Given the description of an element on the screen output the (x, y) to click on. 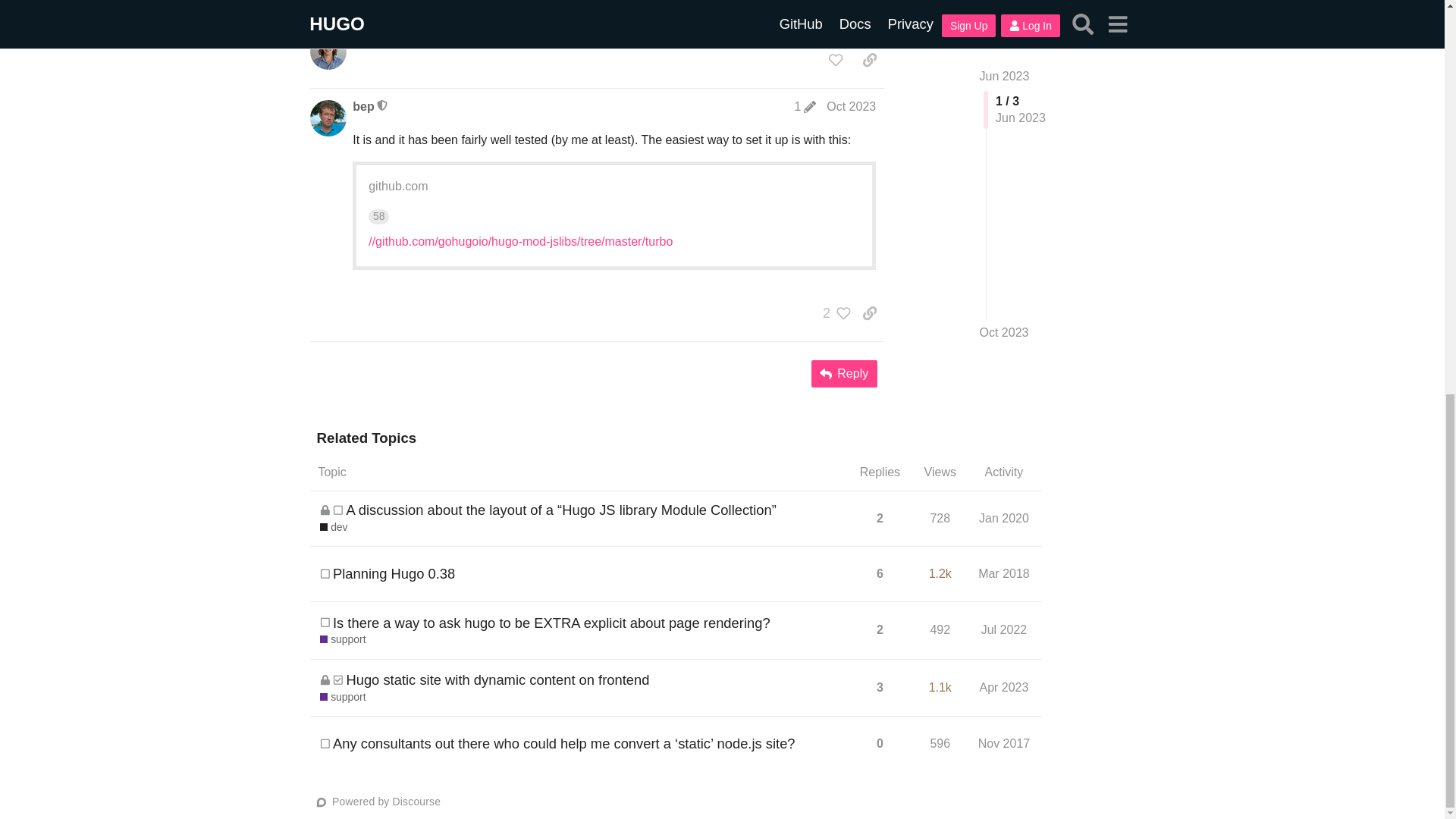
bep (363, 106)
1 (805, 106)
